Given the description of an element on the screen output the (x, y) to click on. 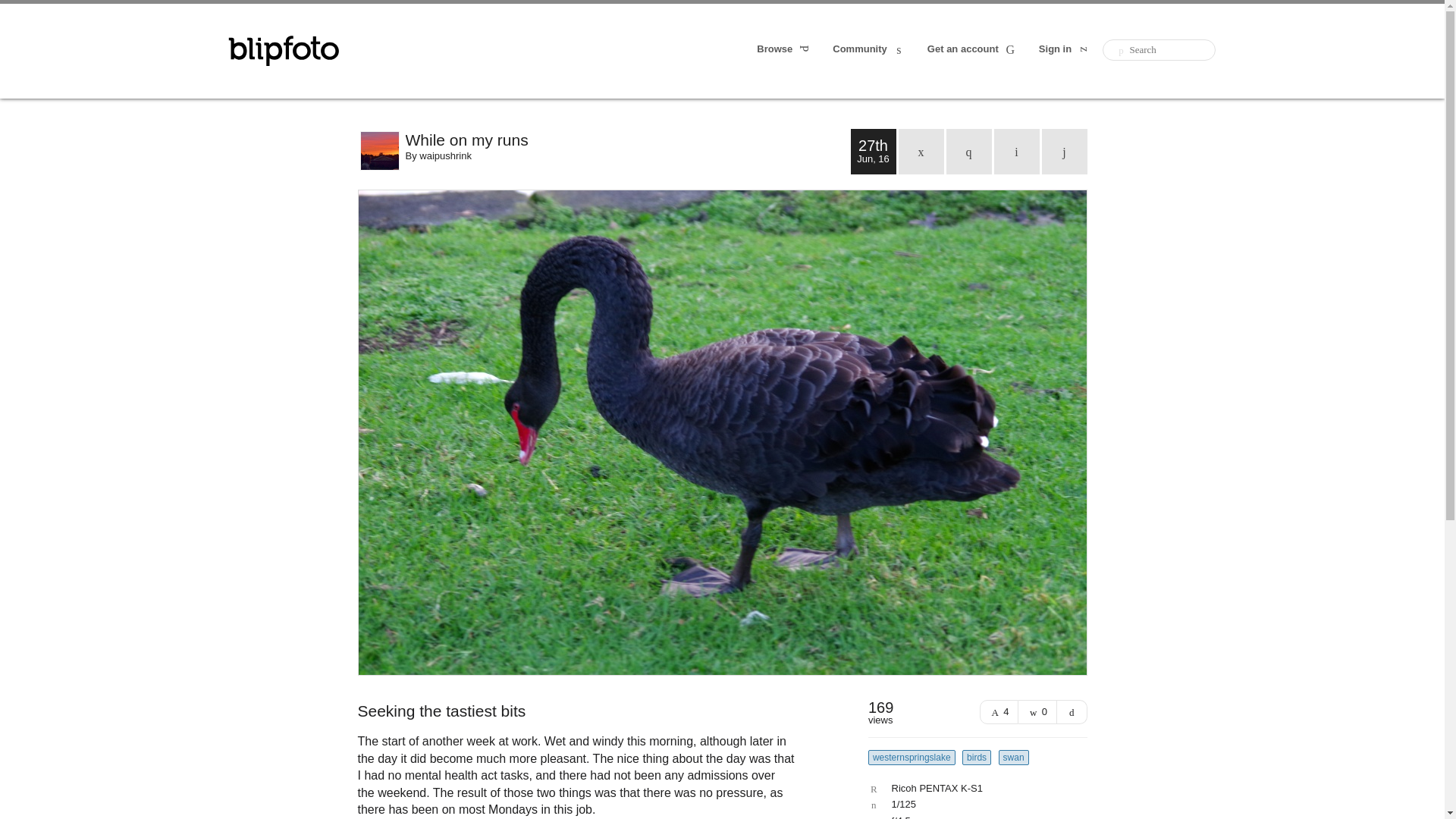
swan (1013, 757)
Camera (973, 787)
birds (976, 757)
Next (1064, 151)
One year ago (968, 151)
Get an account (972, 50)
F-Stop (973, 817)
waipushrink (445, 155)
Sign in (1064, 50)
Exposure time (973, 804)
